Given the description of an element on the screen output the (x, y) to click on. 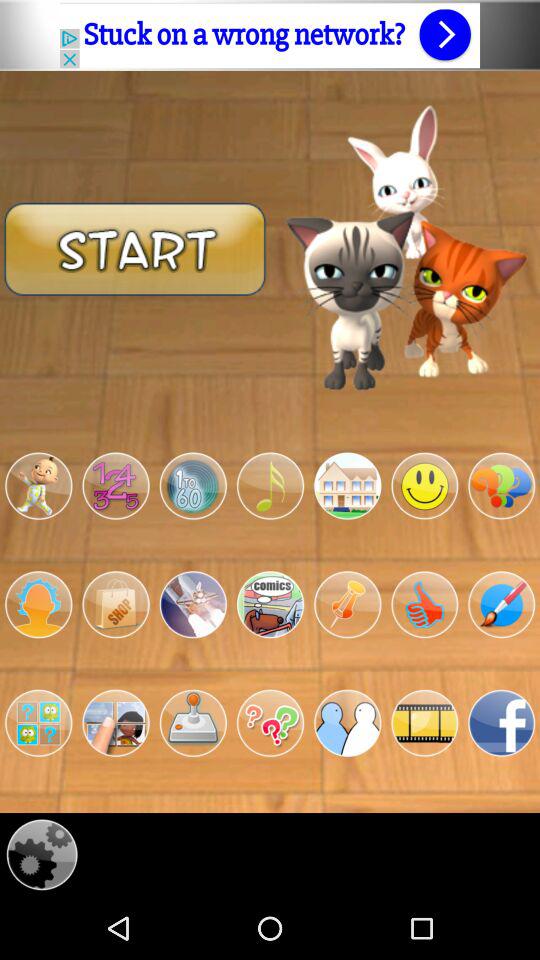
mystery boxes (38, 723)
